Given the description of an element on the screen output the (x, y) to click on. 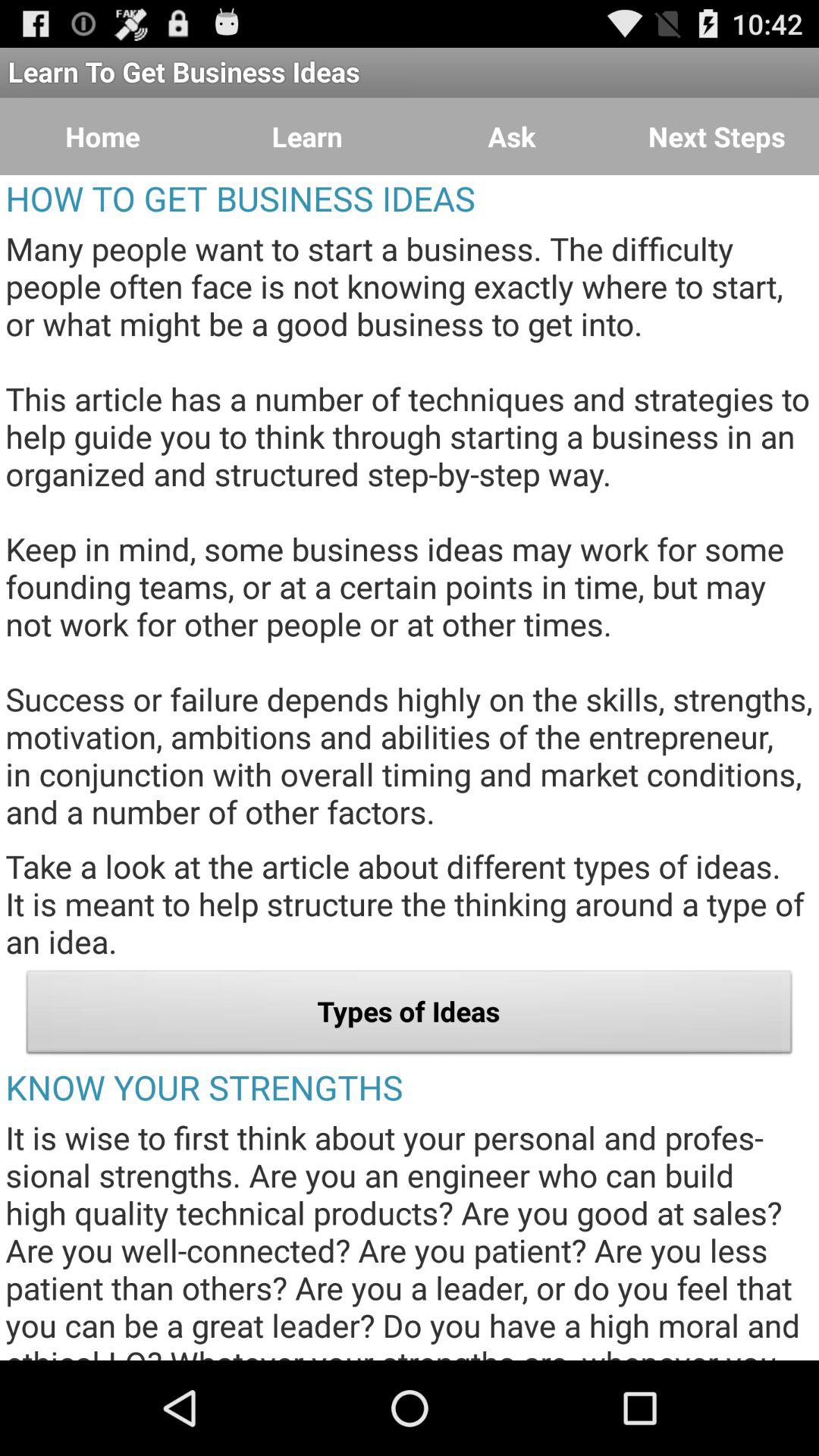
tap the icon below the learn to get app (716, 136)
